Given the description of an element on the screen output the (x, y) to click on. 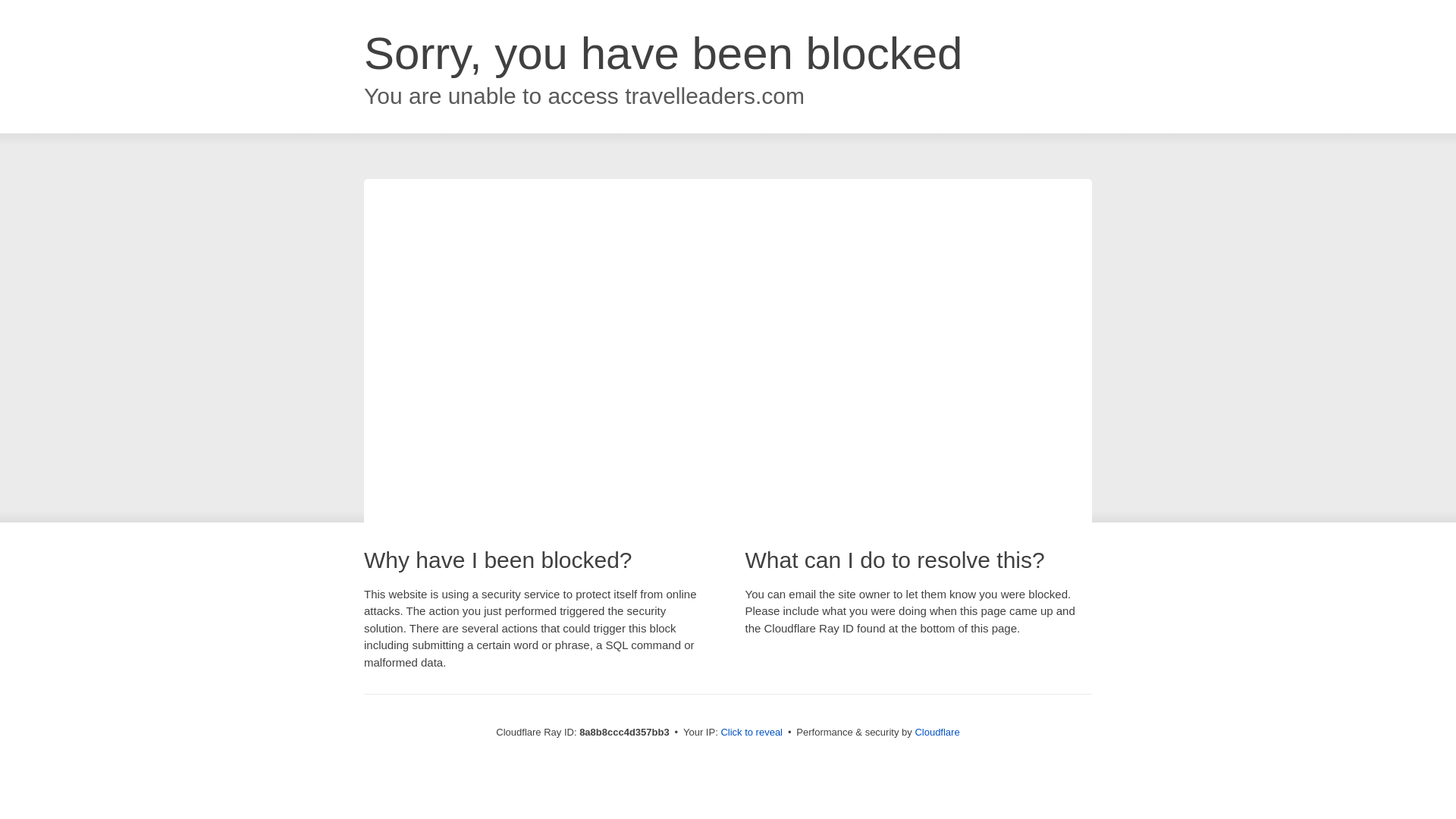
Click to reveal (751, 732)
Cloudflare (936, 731)
